Given the description of an element on the screen output the (x, y) to click on. 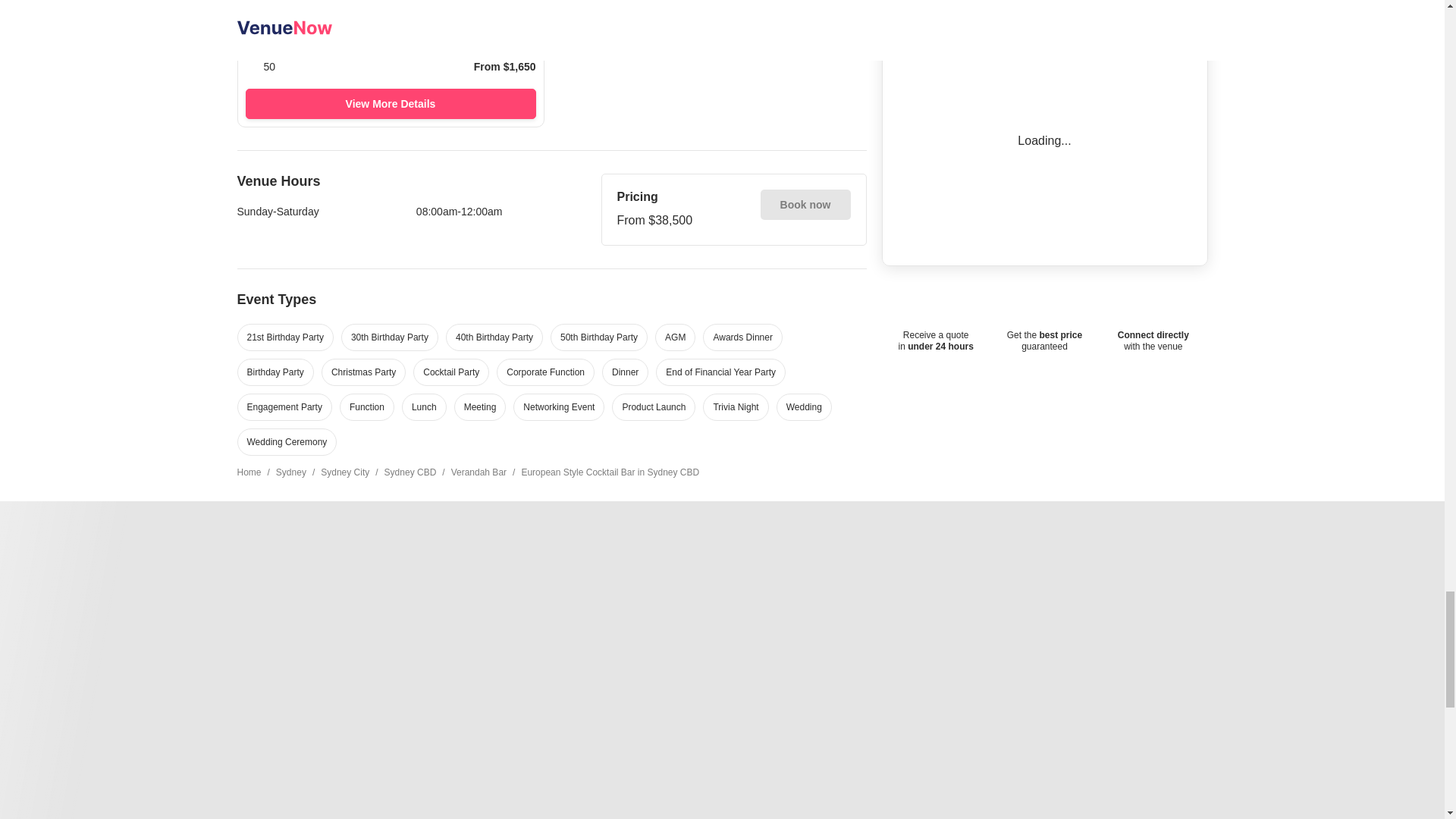
View More Details (390, 103)
Book now (805, 204)
